Given the description of an element on the screen output the (x, y) to click on. 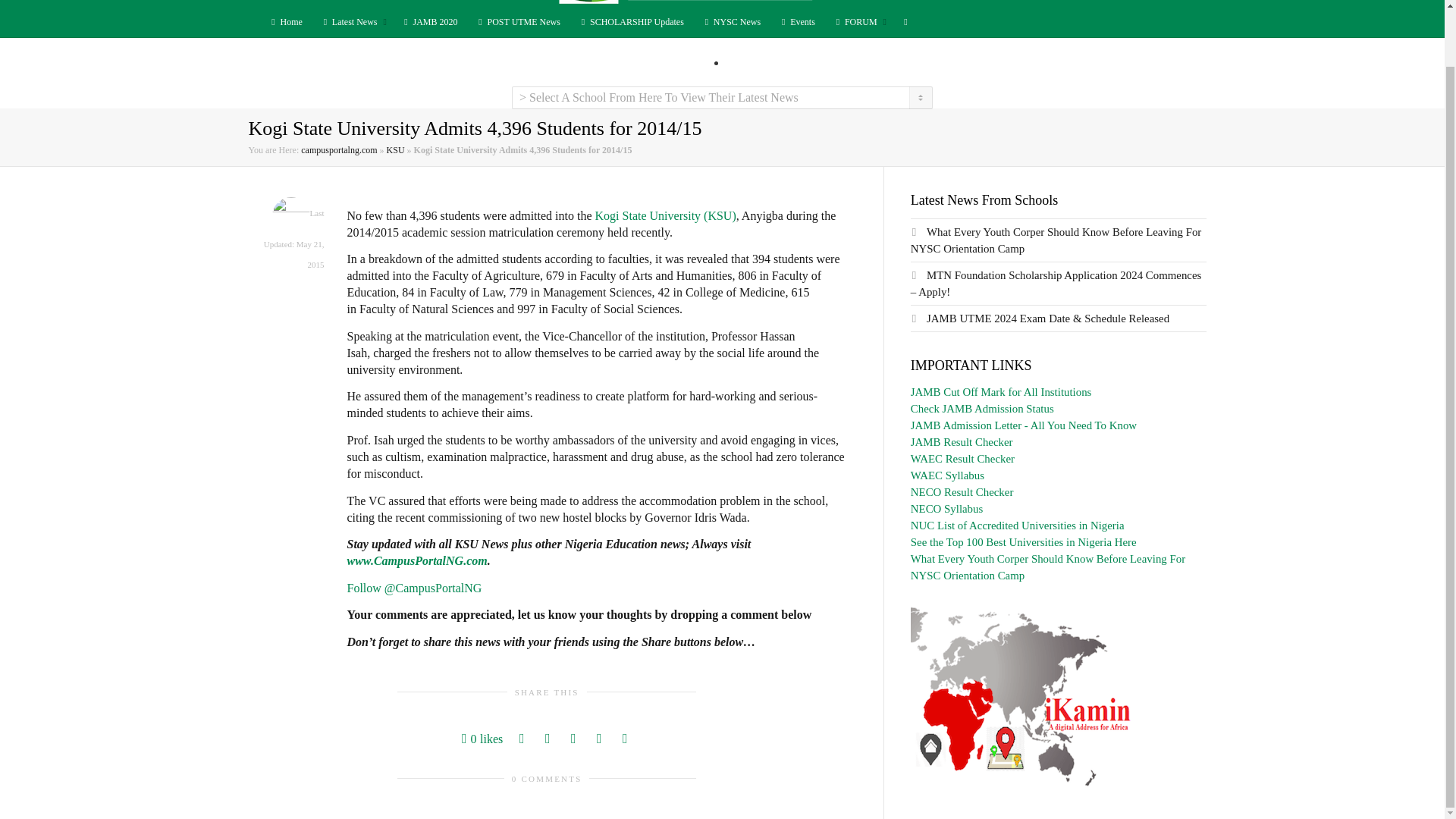
0 likes (481, 738)
NECO Result Checker (962, 491)
JAMB Cut Off Mark for All Institutions (1001, 391)
NYSC News (730, 21)
Nigeria Students forum (857, 21)
FORUM (857, 21)
SCHOLARSHIP Updates (631, 21)
JAMB Result Checker (962, 441)
Home (284, 21)
View all POSTS by CampusPortalNGStaff2 (291, 215)
JAMB 2020 (429, 21)
JAMB Admission Letter - All You Need To Know (1024, 425)
WAEC Syllabus (947, 475)
POST UTME News (518, 21)
